Given the description of an element on the screen output the (x, y) to click on. 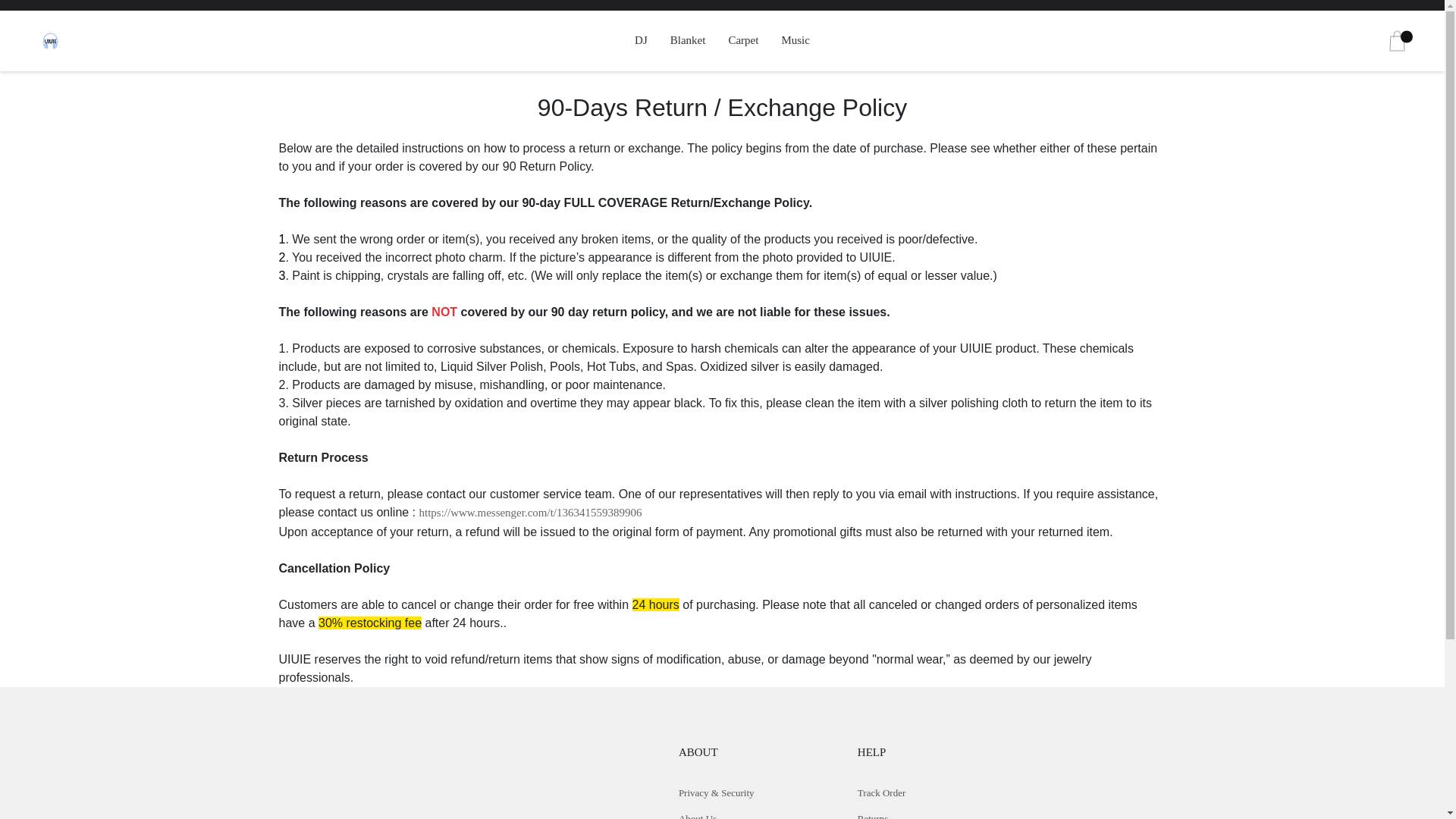
About Us (697, 816)
Carpet (743, 40)
Blanket (687, 40)
Track Order (881, 792)
DJ (640, 40)
Music (794, 40)
Returns (872, 816)
